Given the description of an element on the screen output the (x, y) to click on. 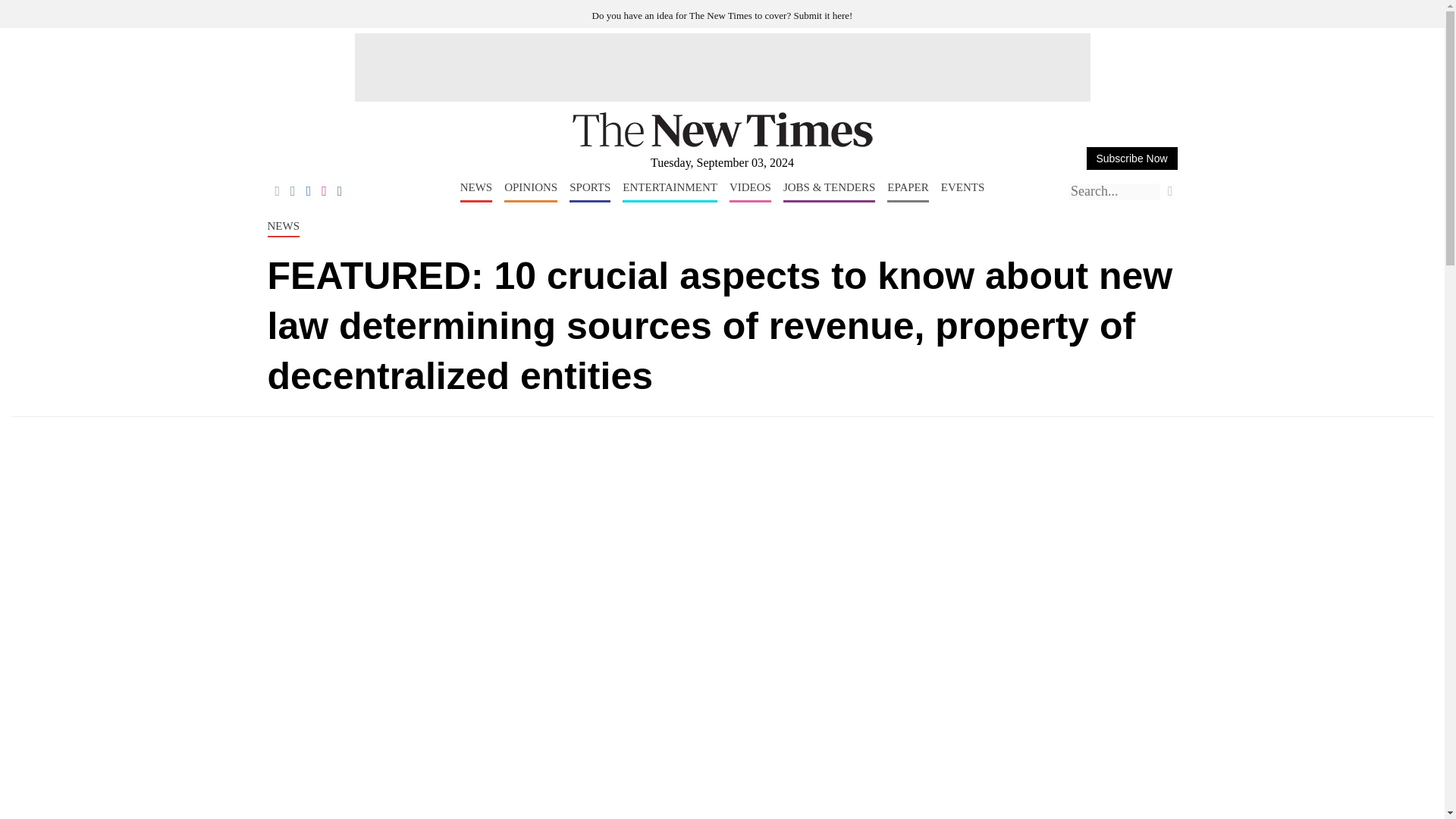
Submit New Ideas (722, 15)
Subscribe Now (1131, 158)
NEWS (476, 191)
News (476, 191)
The New Times (721, 144)
SPORTS (589, 191)
OPINIONS (530, 191)
